Given the description of an element on the screen output the (x, y) to click on. 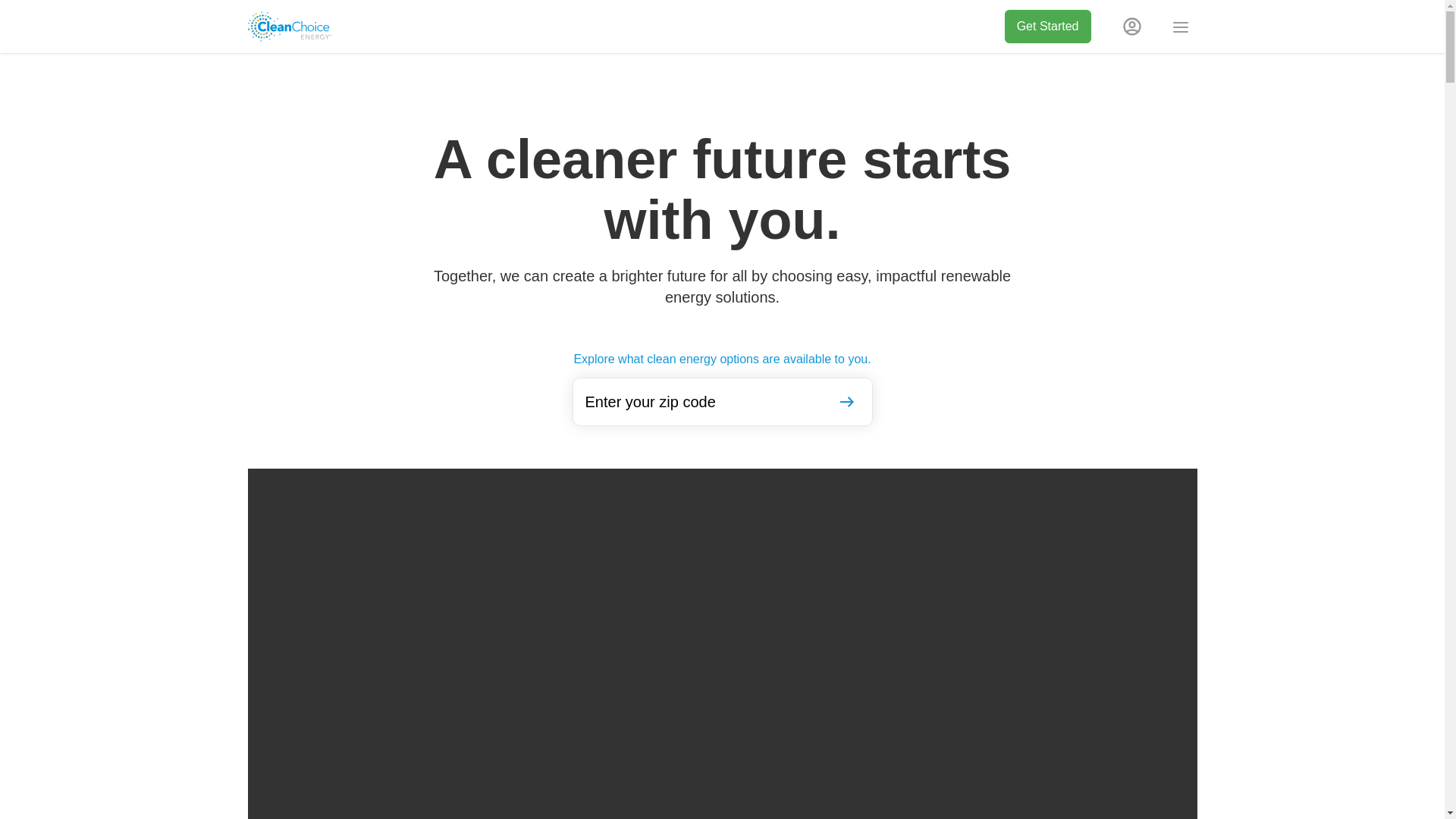
Get Started (1047, 26)
Submit (846, 401)
